Given the description of an element on the screen output the (x, y) to click on. 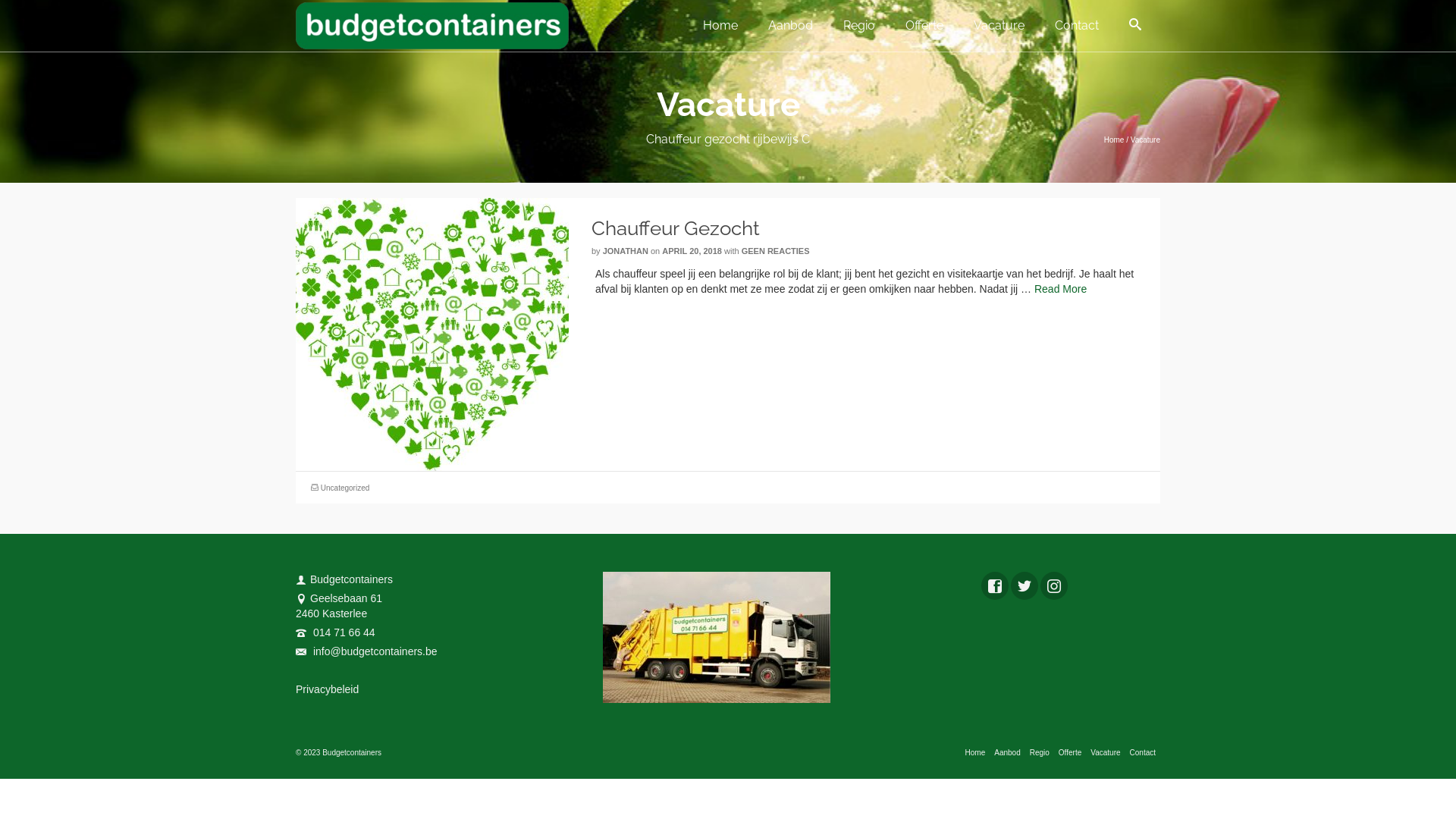
Regio Element type: text (859, 25)
JONATHAN Element type: text (625, 250)
Offerte Element type: text (1069, 752)
Uncategorized Element type: text (344, 487)
Aanbod Element type: text (790, 25)
Contact Element type: text (1076, 25)
Home Element type: text (720, 25)
Vacature Element type: text (1104, 752)
Home Element type: text (975, 752)
Aanbod Element type: text (1006, 752)
Home Element type: text (1114, 139)
Read More Element type: text (1060, 288)
Privacybeleid Element type: text (326, 689)
Chauffeur Gezocht Element type: text (875, 228)
Vacature Element type: text (998, 25)
Contact Element type: text (1142, 752)
Chauffeur Gezocht Element type: hover (431, 333)
Offerte Element type: text (924, 25)
Regio Element type: text (1039, 752)
GEEN REACTIES Element type: text (775, 250)
info@budgetcontainers.be Element type: text (366, 651)
